Given the description of an element on the screen output the (x, y) to click on. 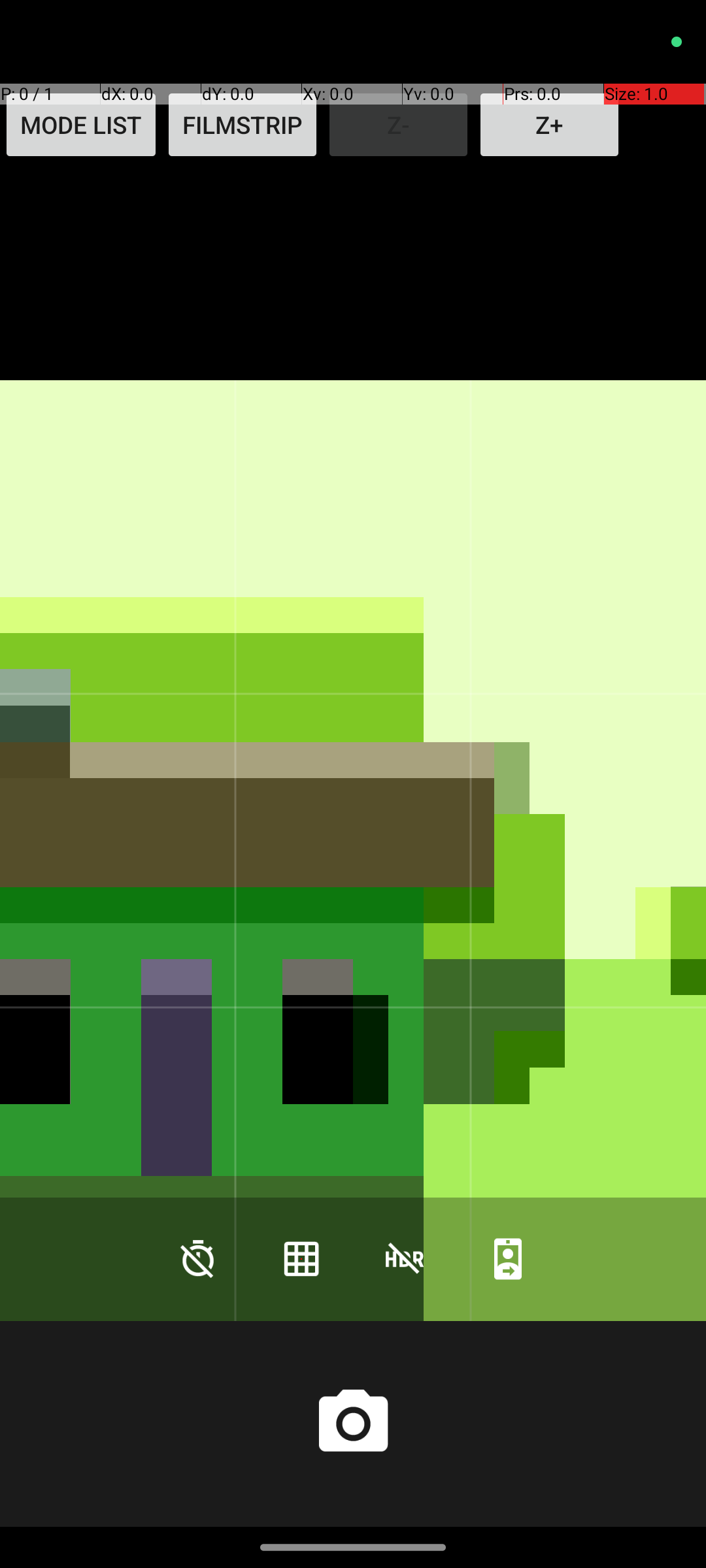
HDR off Element type: android.widget.ImageButton (404, 1258)
